Given the description of an element on the screen output the (x, y) to click on. 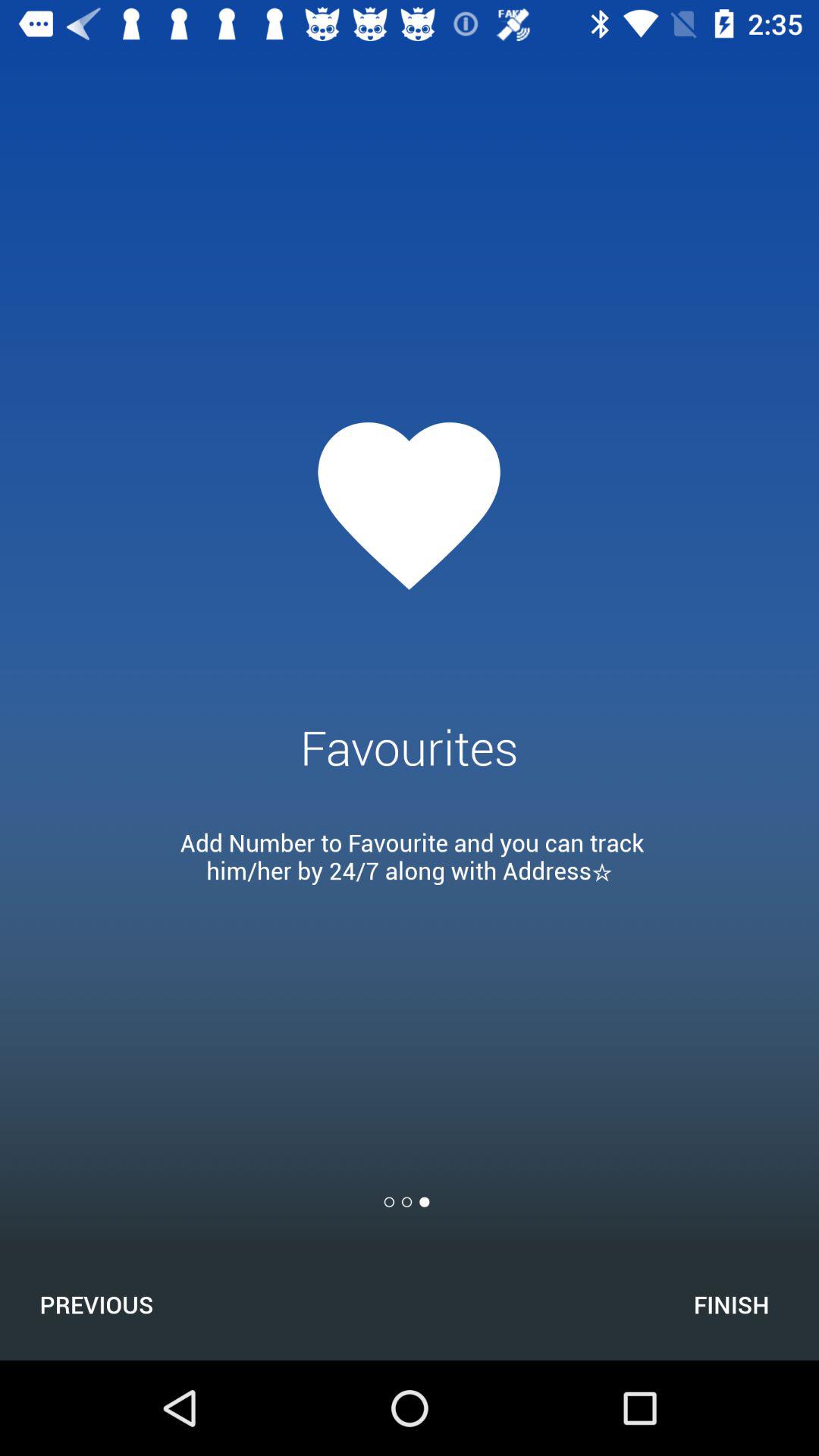
press item to the left of the finish (96, 1304)
